Given the description of an element on the screen output the (x, y) to click on. 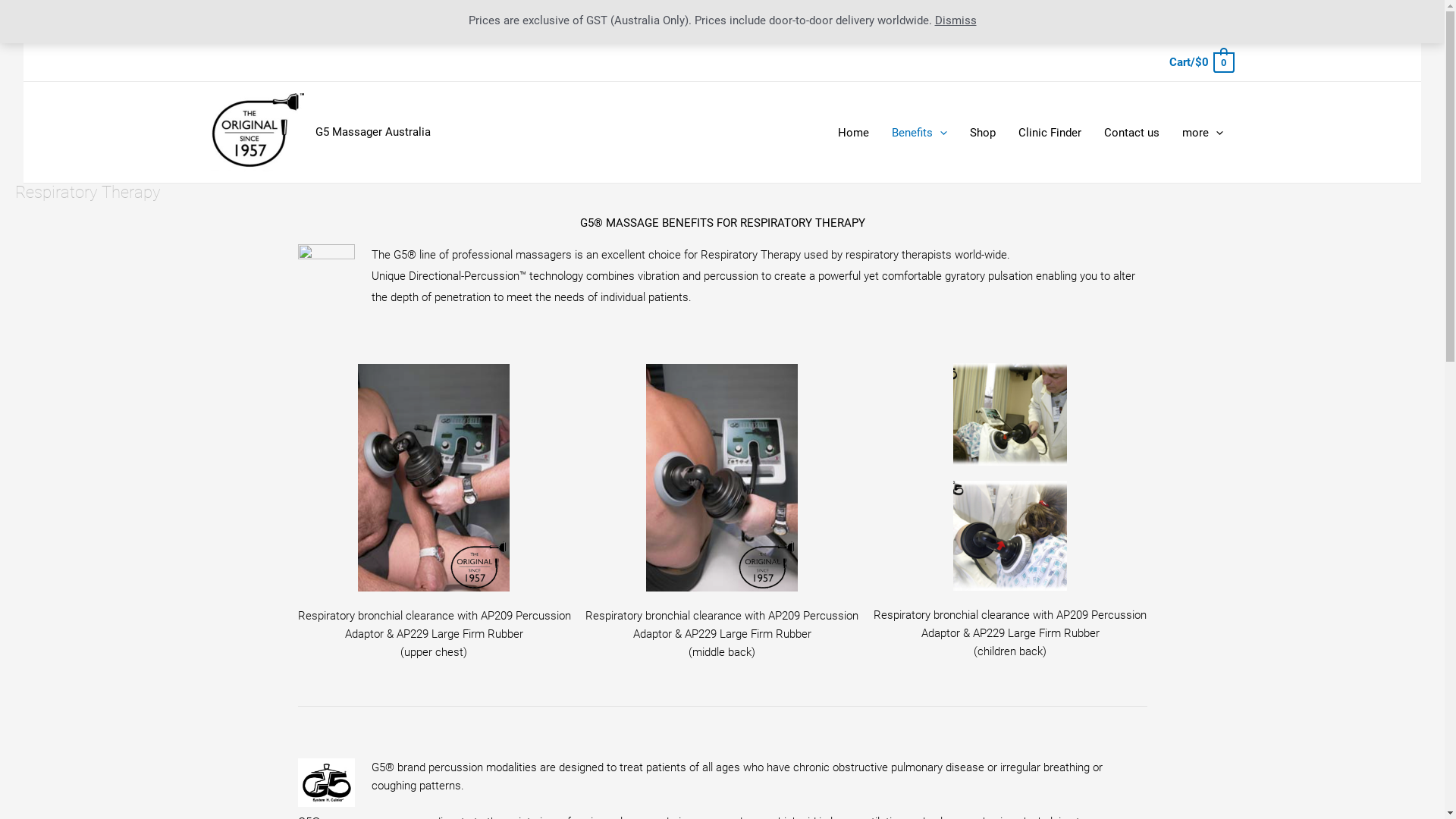
Clinic Finder Element type: text (1049, 132)
Dismiss Element type: text (954, 20)
Contact us Element type: text (1131, 132)
Home Element type: text (853, 132)
Shop Element type: text (982, 132)
Cart/$0
0 Element type: text (1200, 62)
more Element type: text (1202, 132)
benefits-respiratory-therapy_2 Element type: hover (1009, 535)
Benefits Element type: text (918, 132)
benefits-respiratory-therapy Element type: hover (1009, 414)
